Given the description of an element on the screen output the (x, y) to click on. 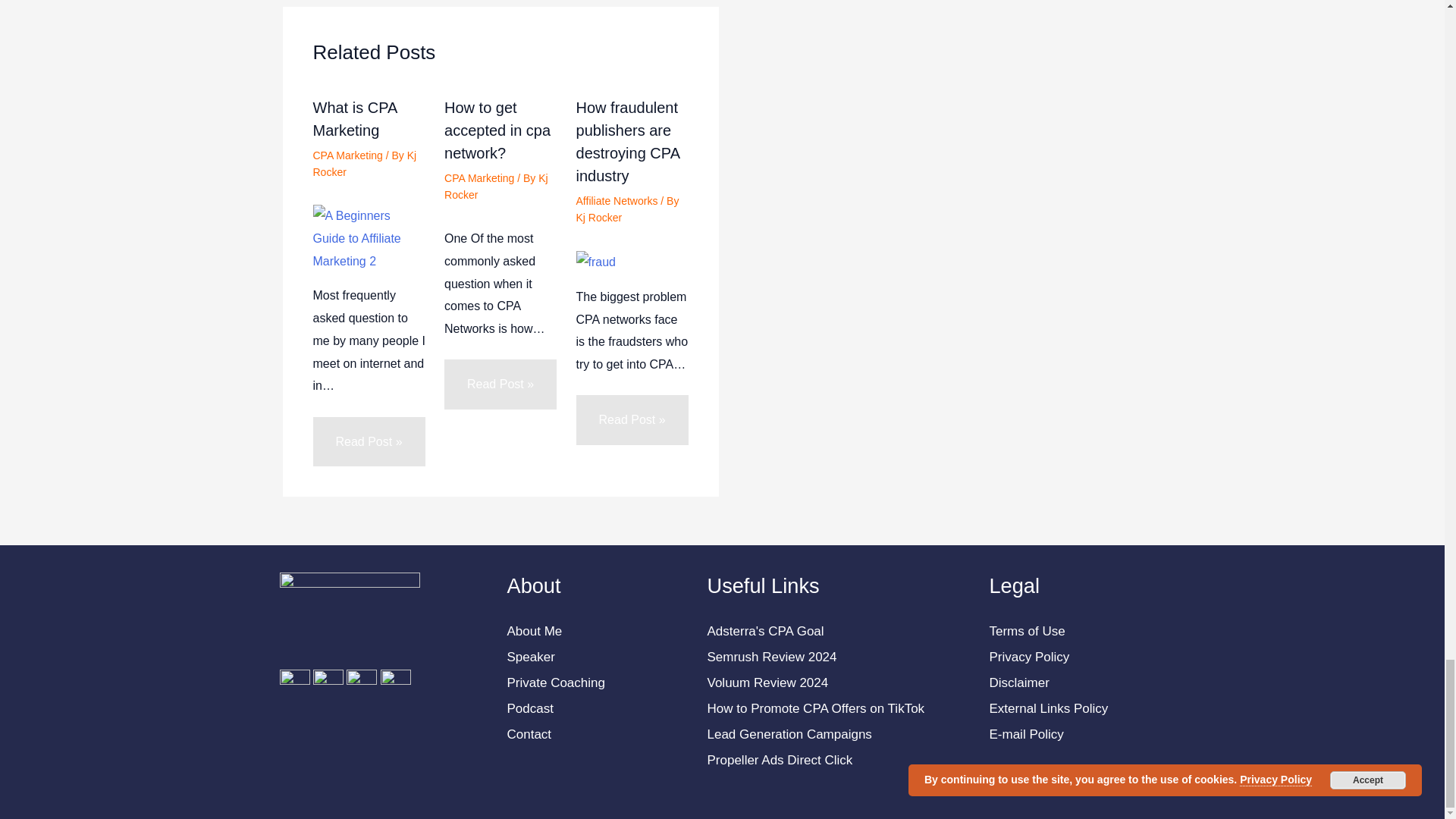
View all posts by Kj Rocker (599, 217)
View all posts by Kj Rocker (496, 185)
View all posts by Kj Rocker (364, 163)
